Given the description of an element on the screen output the (x, y) to click on. 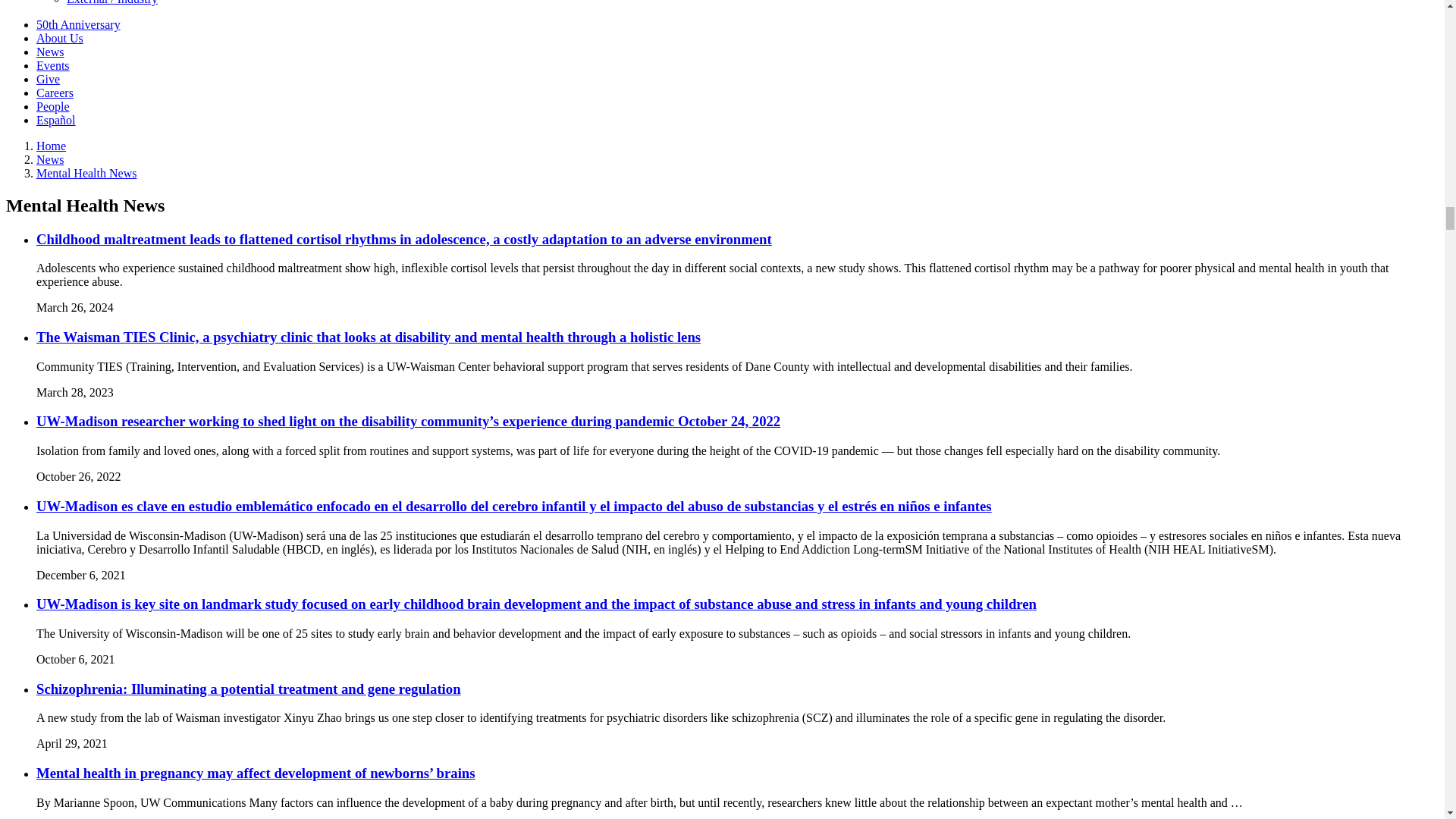
Home (50, 145)
News (50, 159)
Mental Health News (86, 173)
